Given the description of an element on the screen output the (x, y) to click on. 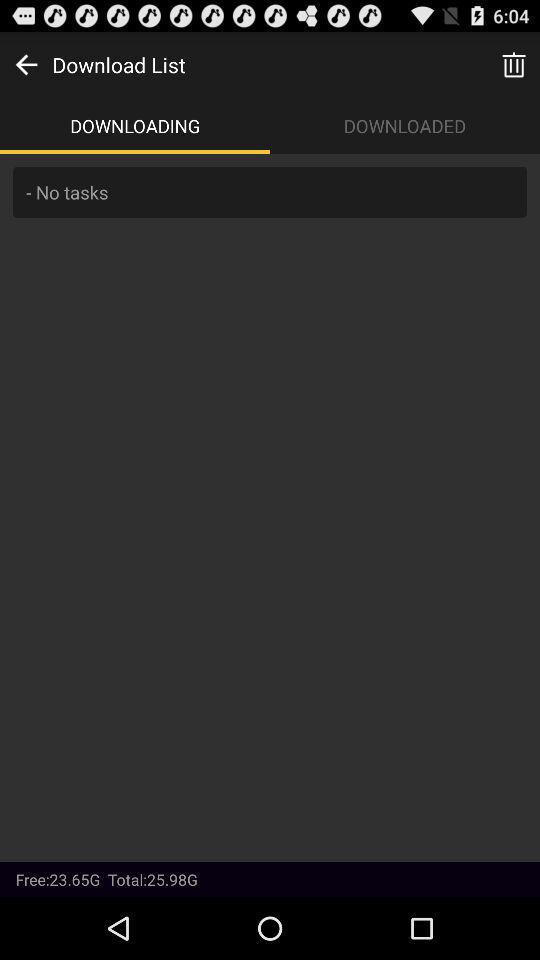
for delete (513, 64)
